Given the description of an element on the screen output the (x, y) to click on. 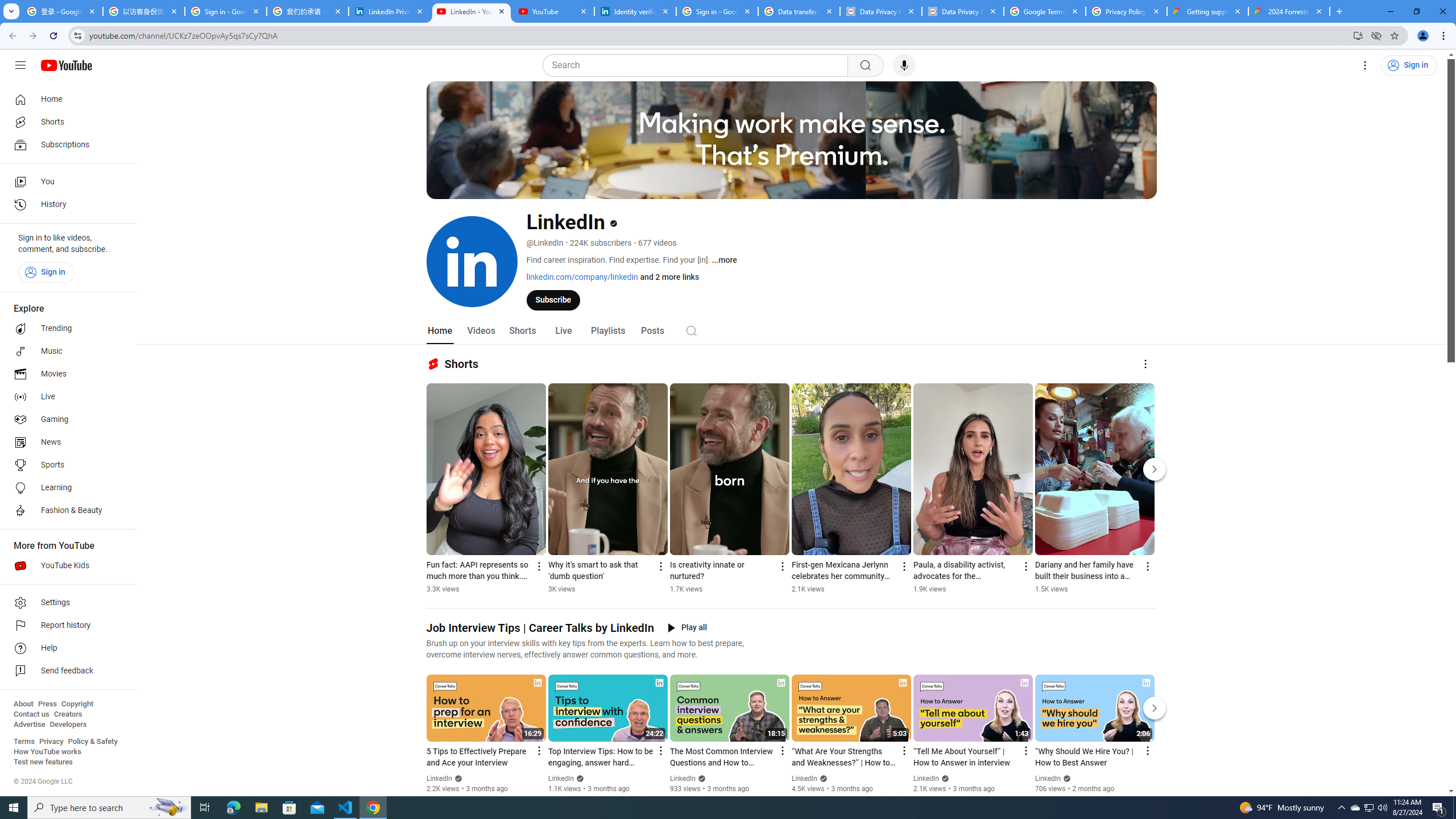
Report history (64, 625)
Bookmark this tab (1393, 35)
Live (64, 396)
Forward (32, 35)
Privacy (51, 741)
Developers (68, 724)
Home (64, 99)
Chrome (1445, 35)
Advertise (29, 724)
Fashion & Beauty (64, 510)
Send feedback (64, 671)
